Given the description of an element on the screen output the (x, y) to click on. 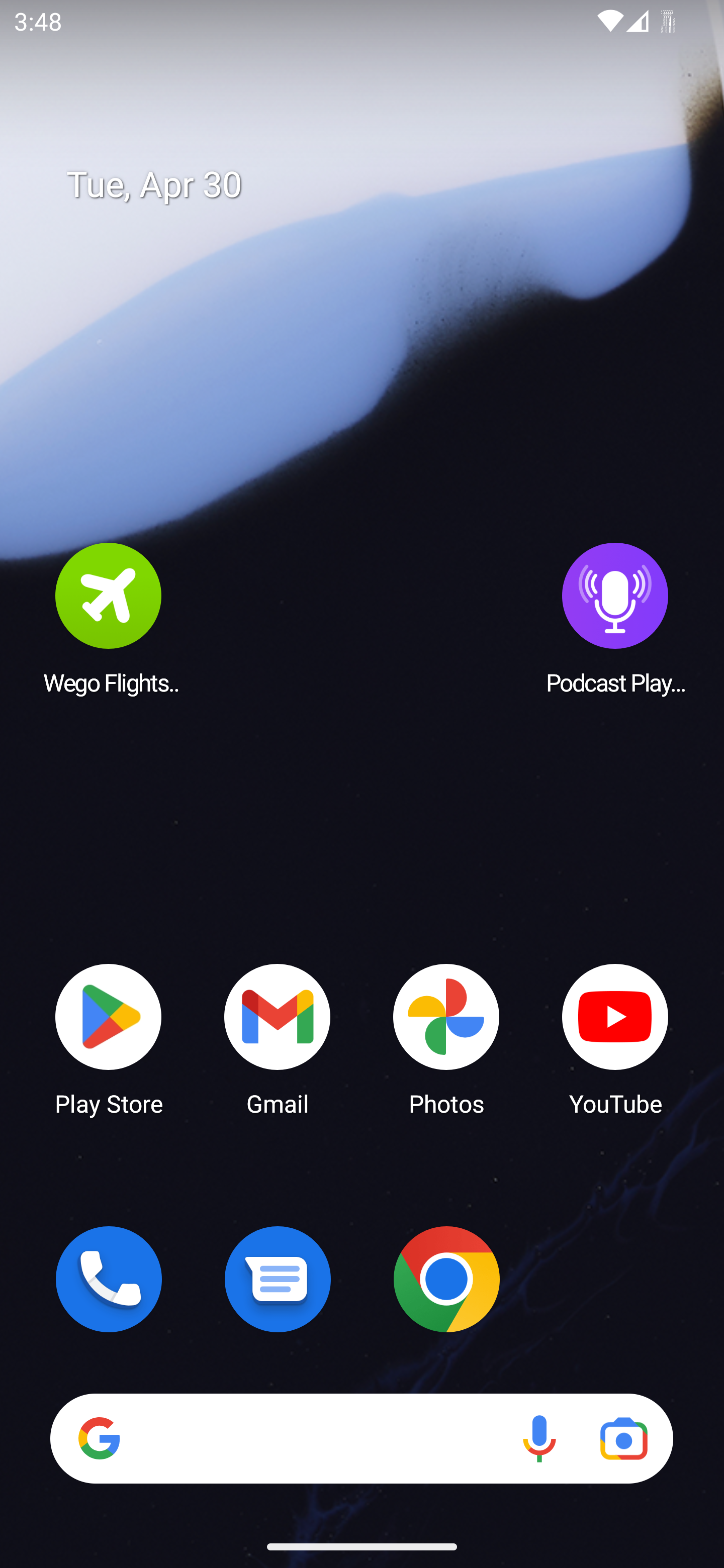
Tue, Apr 30 (375, 184)
Wego Flights & Hotels (108, 617)
Podcast Player (615, 617)
Play Store (108, 1038)
Gmail (277, 1038)
Photos (445, 1038)
YouTube (615, 1038)
Phone (108, 1279)
Messages (277, 1279)
Chrome (446, 1279)
Voice search (539, 1438)
Google Lens (623, 1438)
